Given the description of an element on the screen output the (x, y) to click on. 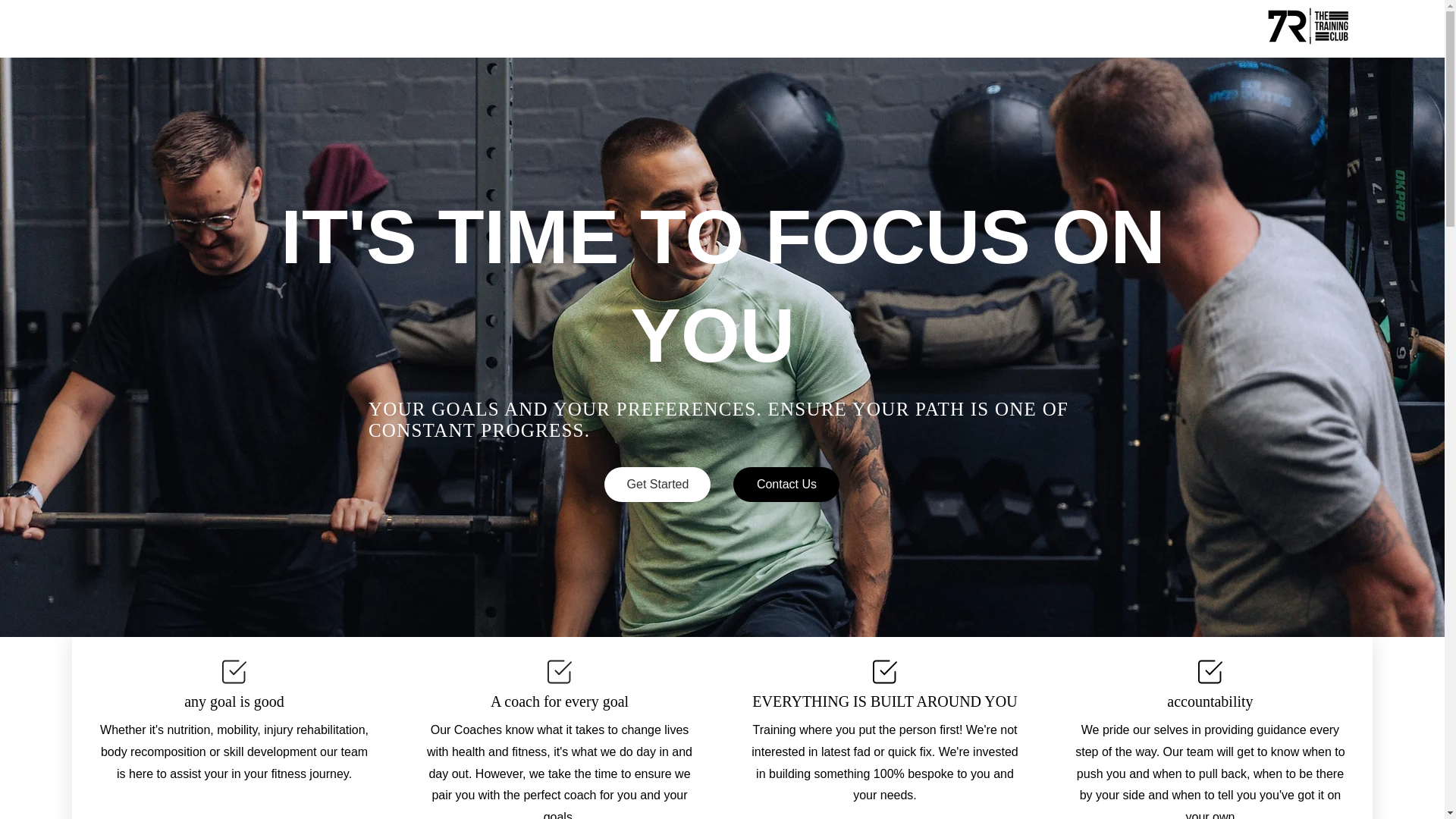
Get Started (657, 484)
Contact Us (786, 484)
